Given the description of an element on the screen output the (x, y) to click on. 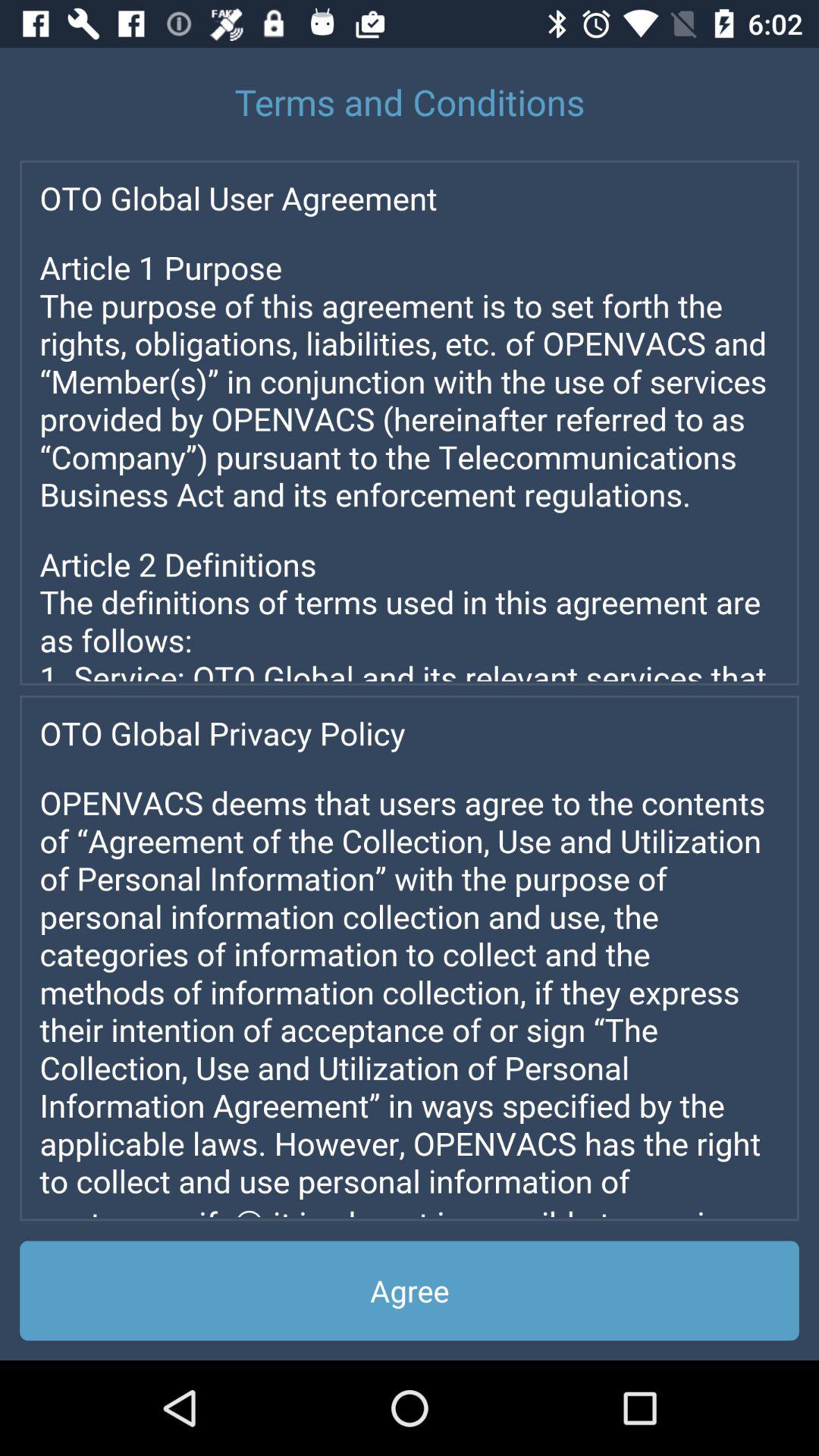
screen page (409, 422)
